Given the description of an element on the screen output the (x, y) to click on. 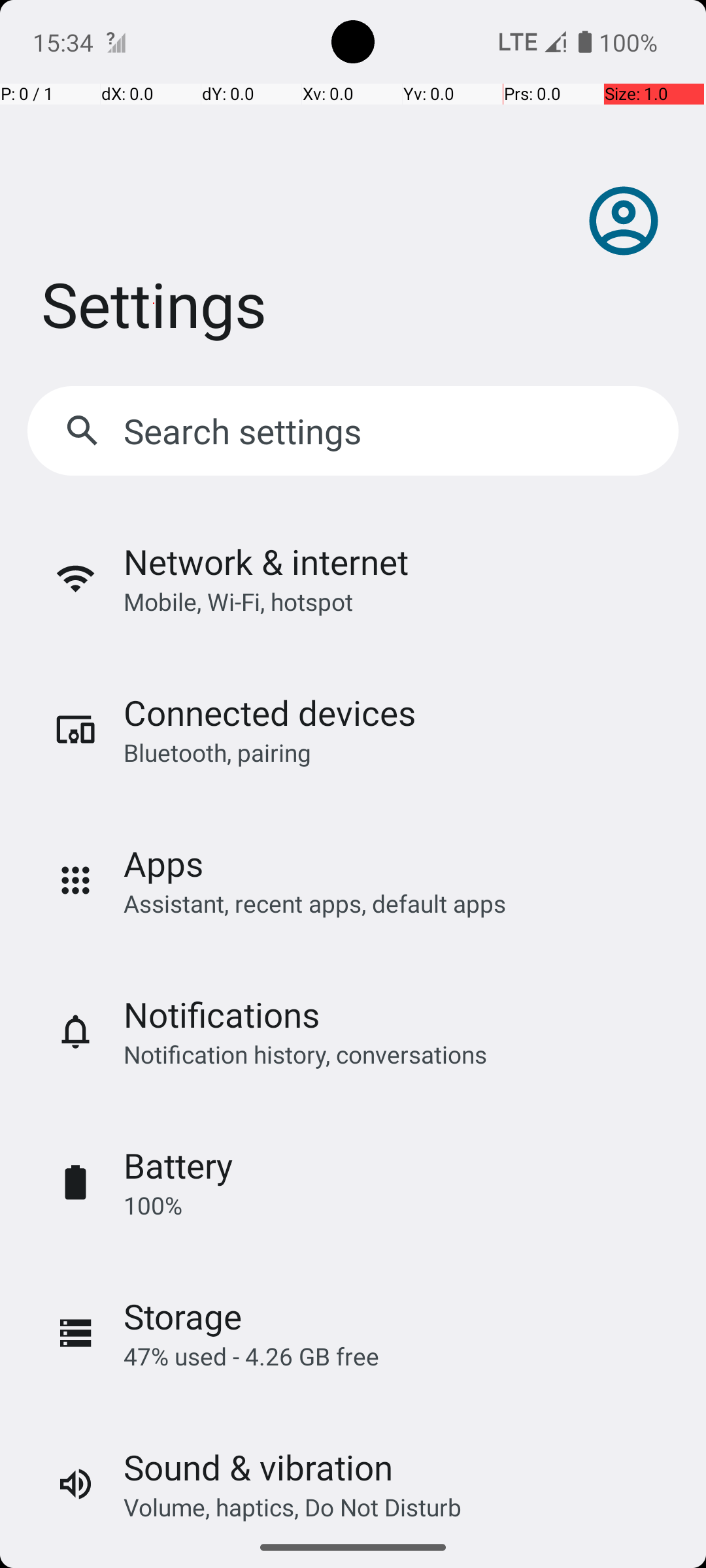
47% used - 4.26 GB free Element type: android.widget.TextView (251, 1355)
